Given the description of an element on the screen output the (x, y) to click on. 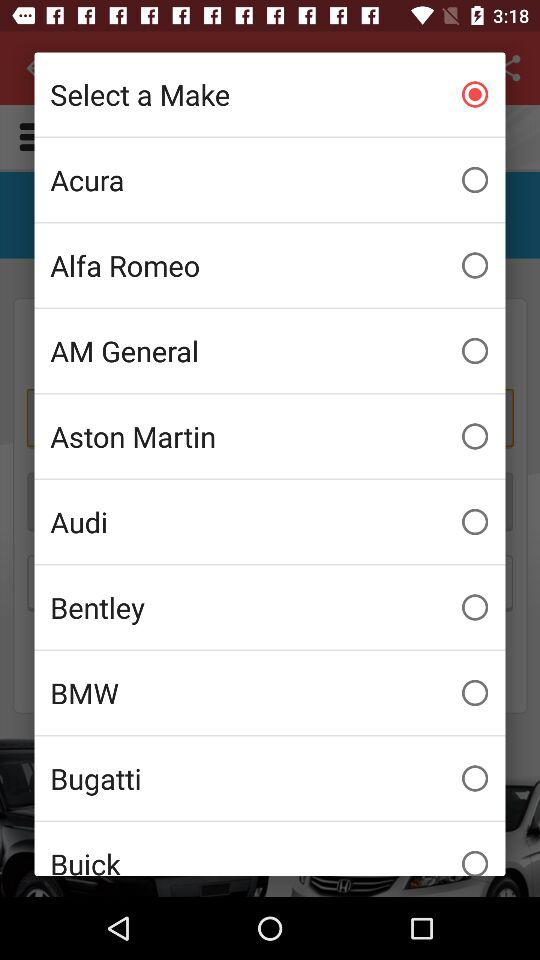
scroll to the buick item (269, 848)
